Given the description of an element on the screen output the (x, y) to click on. 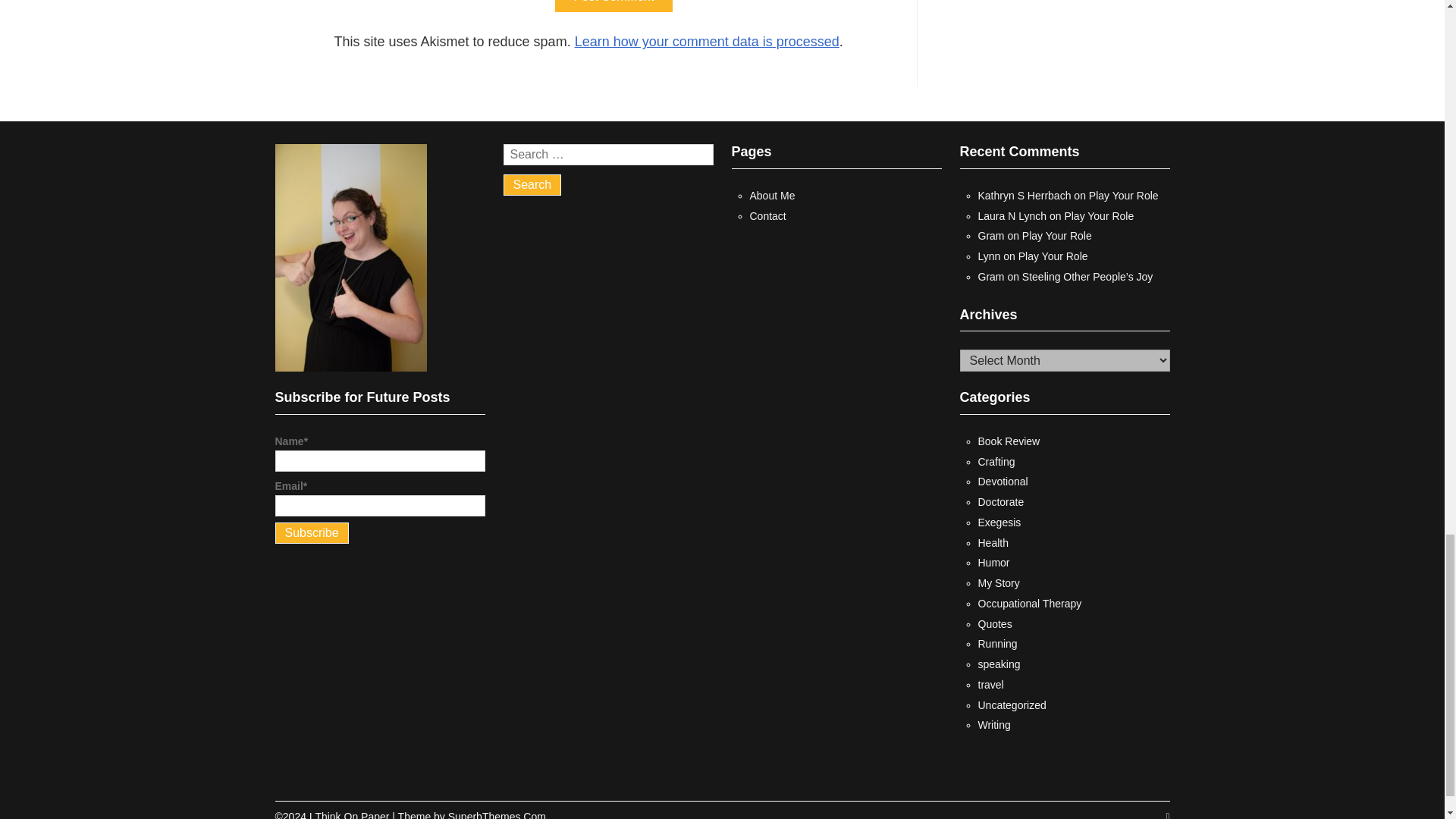
Play Your Role (1099, 215)
Subscribe (311, 532)
Post Comment (613, 6)
Subscribe (311, 532)
Post Comment (613, 6)
Search (532, 184)
Search (532, 184)
About Me (771, 195)
Search (532, 184)
Learn how your comment data is processed (707, 41)
